Given the description of an element on the screen output the (x, y) to click on. 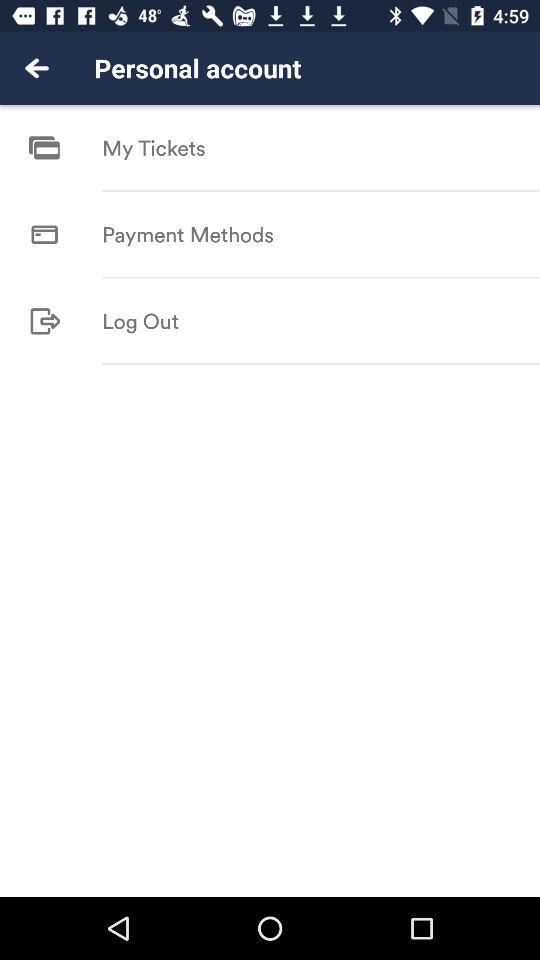
choose icon below payment methods (321, 277)
